Given the description of an element on the screen output the (x, y) to click on. 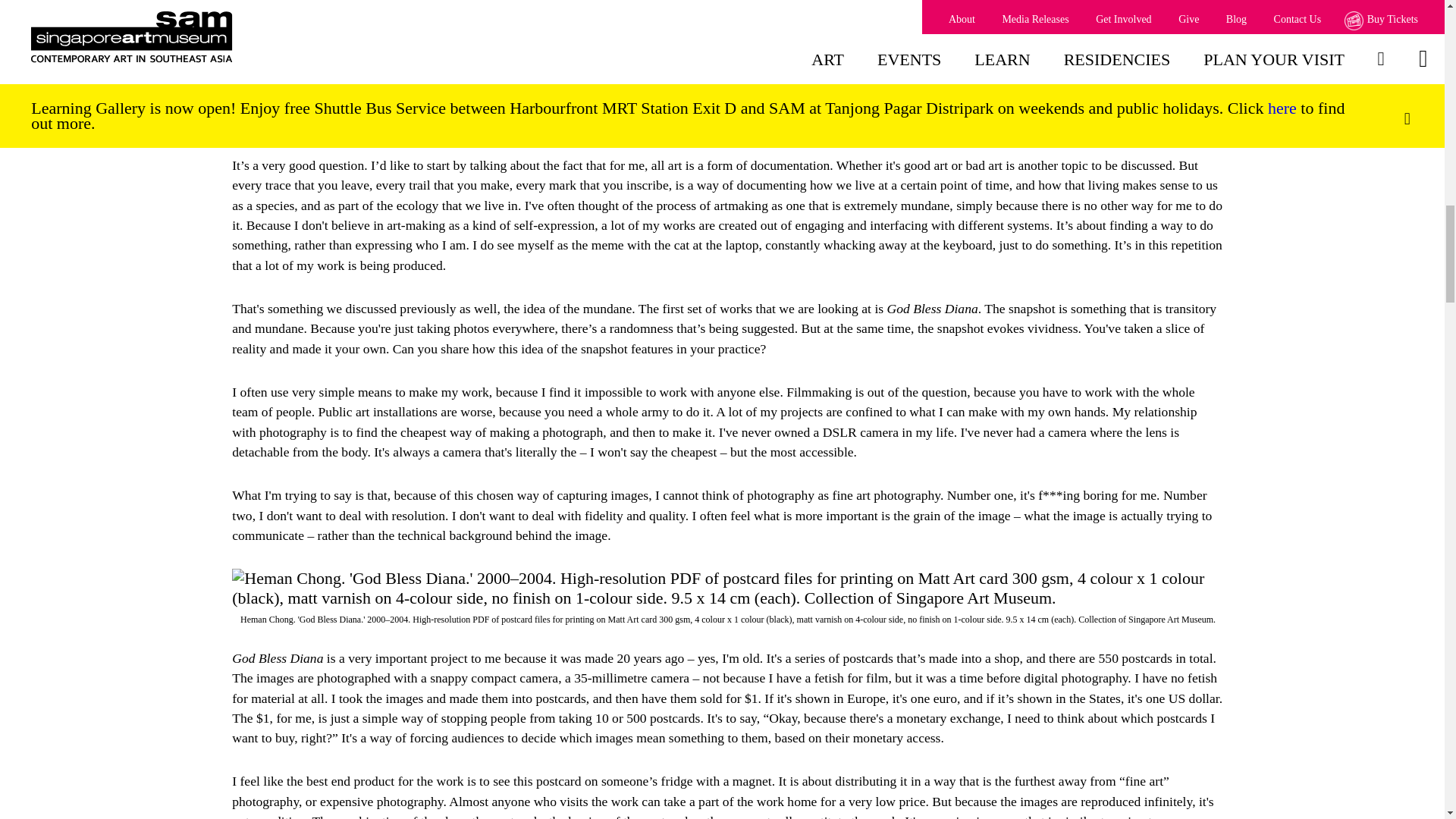
YouTube video player (727, 2)
